Given the description of an element on the screen output the (x, y) to click on. 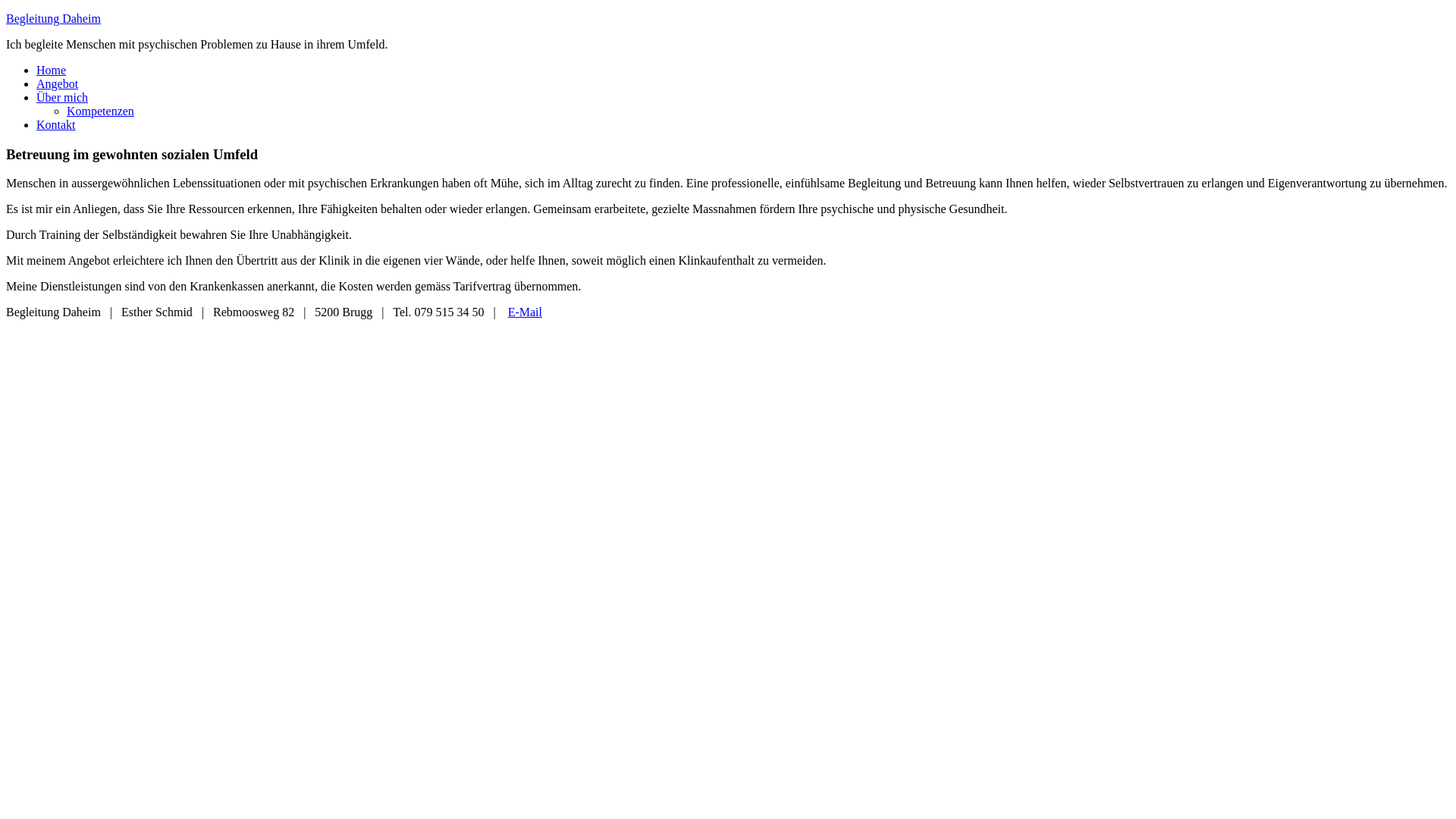
Home Element type: text (50, 69)
Angebot Element type: text (57, 83)
Kontakt Element type: text (55, 124)
Begleitung Daheim Element type: text (53, 18)
Kompetenzen Element type: text (100, 110)
E-Mail Element type: text (525, 311)
